Given the description of an element on the screen output the (x, y) to click on. 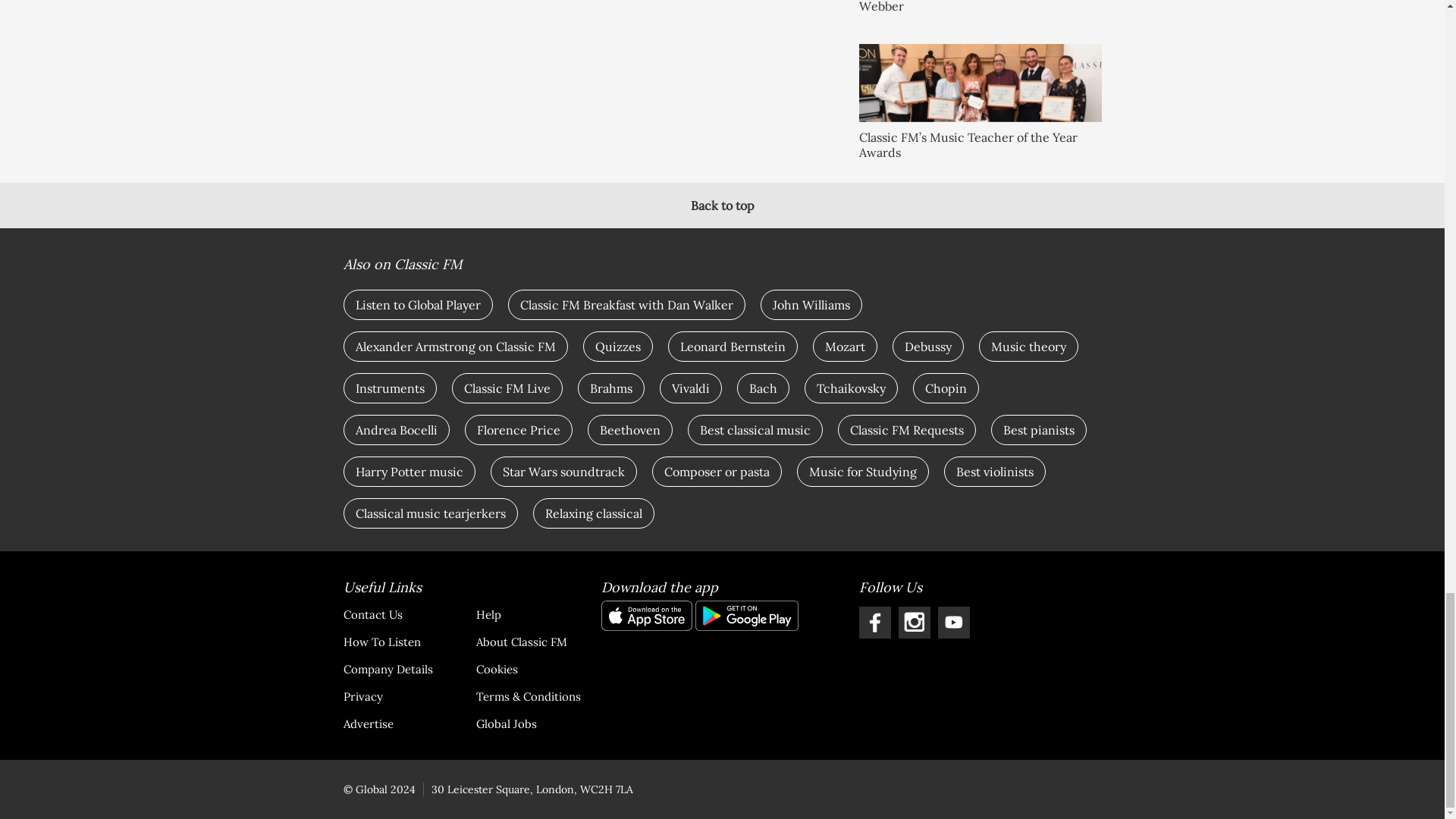
Follow Classic FM on Facebook (874, 622)
Follow Classic FM on Youtube (953, 622)
Follow Classic FM on Instagram (914, 622)
Back to top (722, 205)
